Given the description of an element on the screen output the (x, y) to click on. 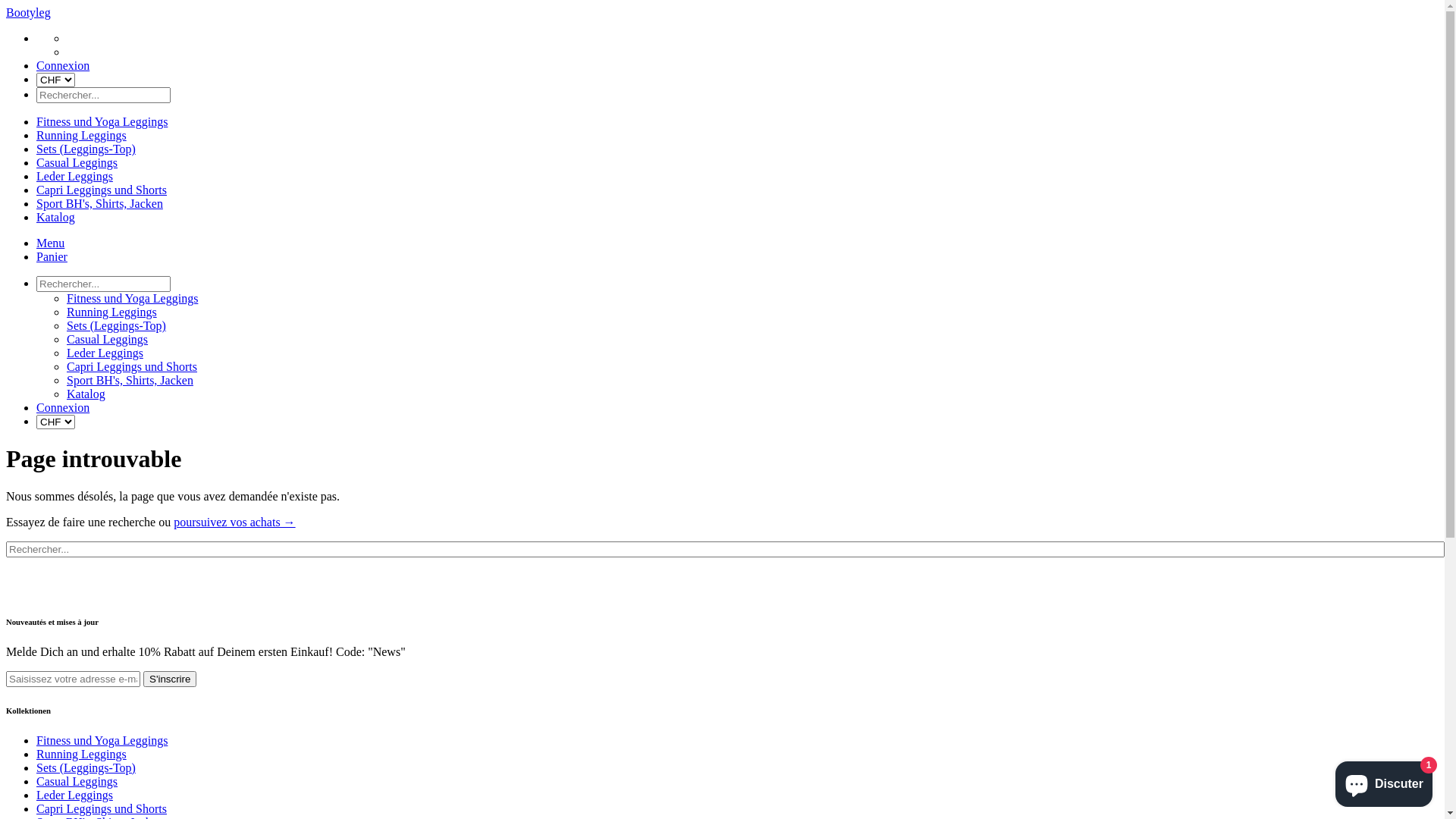
Menu Element type: text (50, 242)
Capri Leggings und Shorts Element type: text (101, 189)
Sets (Leggings-Top) Element type: text (85, 148)
Fitness und Yoga Leggings Element type: text (101, 740)
Running Leggings Element type: text (81, 753)
Sets (Leggings-Top) Element type: text (85, 767)
Katalog Element type: text (55, 216)
Connexion Element type: text (62, 407)
Leder Leggings Element type: text (74, 175)
Running Leggings Element type: text (111, 311)
Chat de la boutique en ligne Shopify Element type: hover (1383, 780)
Connexion Element type: text (62, 65)
Katalog Element type: text (85, 393)
Fitness und Yoga Leggings Element type: text (131, 297)
Casual Leggings Element type: text (76, 781)
Casual Leggings Element type: text (106, 338)
Sport BH's, Shirts, Jacken Element type: text (129, 379)
Leder Leggings Element type: text (104, 352)
Capri Leggings und Shorts Element type: text (101, 808)
Leder Leggings Element type: text (74, 794)
Sport BH's, Shirts, Jacken Element type: text (99, 203)
Panier Element type: text (51, 256)
Sets (Leggings-Top) Element type: text (116, 325)
Casual Leggings Element type: text (76, 162)
S'inscrire Element type: text (169, 679)
Bootyleg Element type: text (28, 12)
Capri Leggings und Shorts Element type: text (131, 366)
Running Leggings Element type: text (81, 134)
Fitness und Yoga Leggings Element type: text (101, 121)
